Given the description of an element on the screen output the (x, y) to click on. 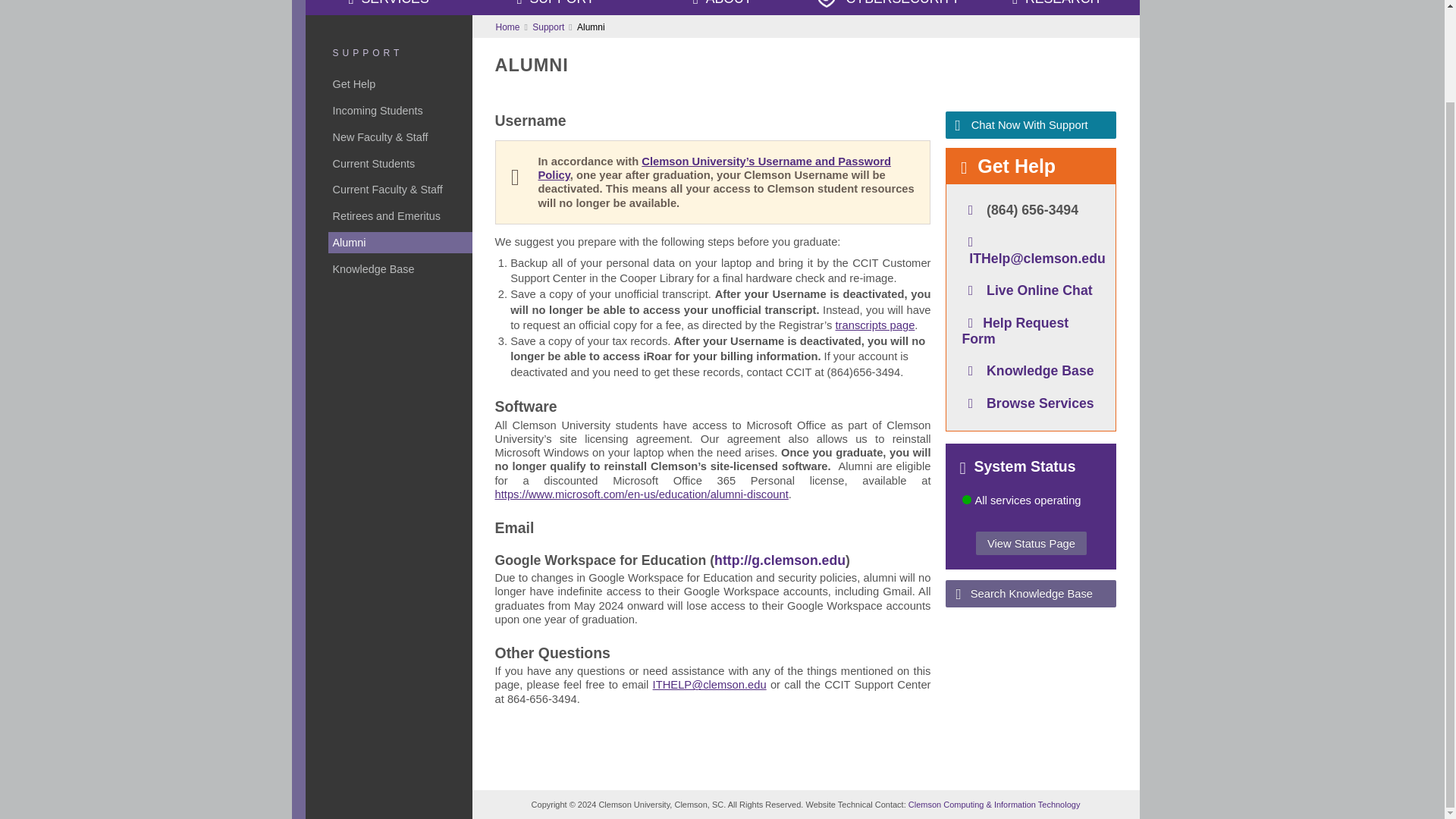
  ABOUT (722, 8)
Current Students (399, 163)
  CYBERSECURITY (888, 8)
  SERVICES (387, 8)
Clemson Google Apps (779, 560)
Incoming Students (399, 110)
Transcript Requests (875, 325)
CCIT Support Center Email (709, 684)
  RESEARCH (1055, 8)
Get Help (399, 84)
SUPPORT (367, 52)
UserID and Password Policy (714, 167)
  SUPPORT (555, 8)
